Given the description of an element on the screen output the (x, y) to click on. 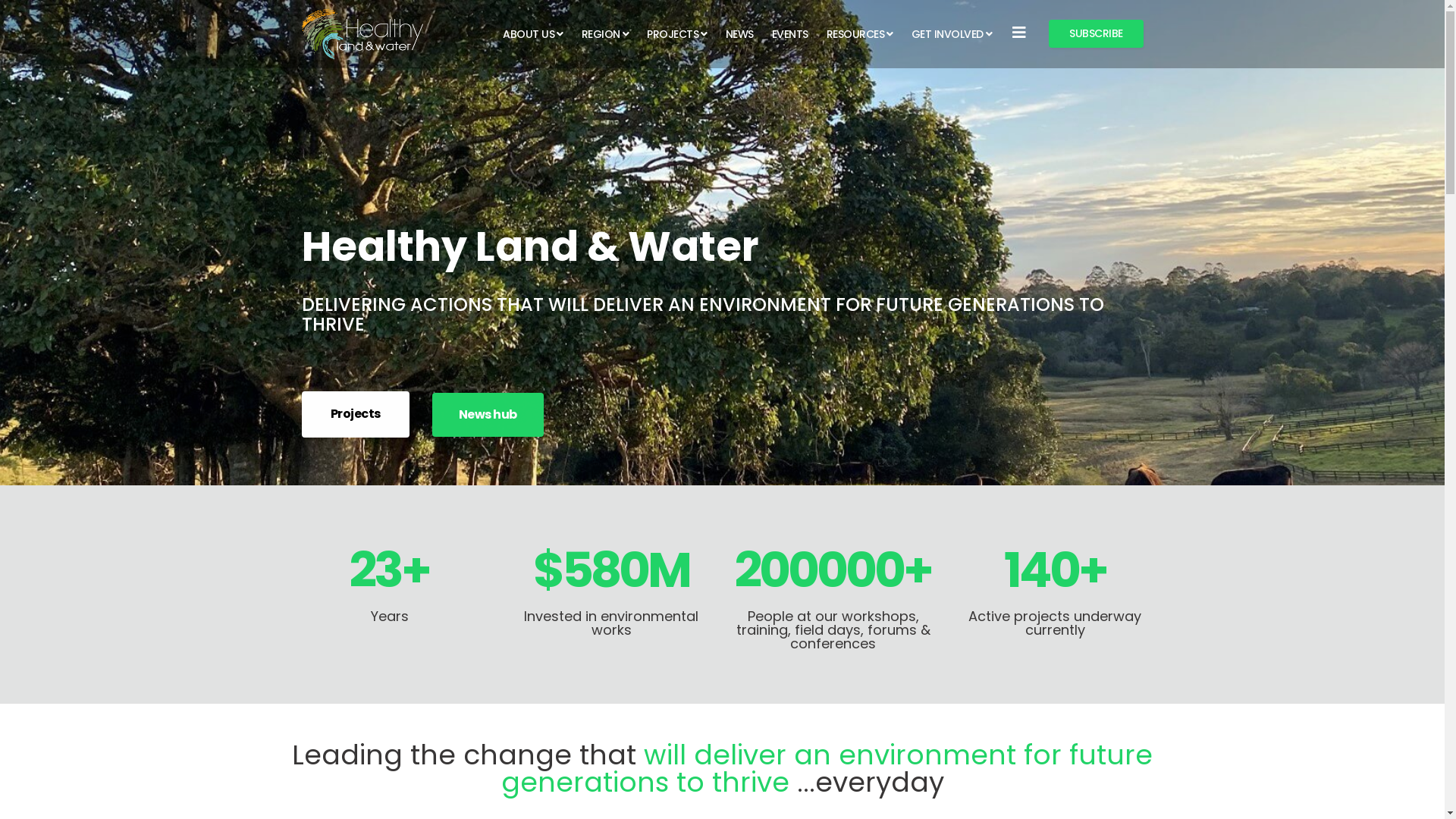
News hub Element type: text (487, 414)
NEWS Element type: text (738, 34)
REGION Element type: text (604, 34)
PROJECTS Element type: text (676, 34)
RESOURCES Element type: text (859, 34)
ABOUT US Element type: text (532, 34)
GET INVOLVED Element type: text (951, 34)
EVENTS Element type: text (789, 34)
SUBSCRIBE Element type: text (1095, 33)
Projects Element type: text (355, 414)
